Given the description of an element on the screen output the (x, y) to click on. 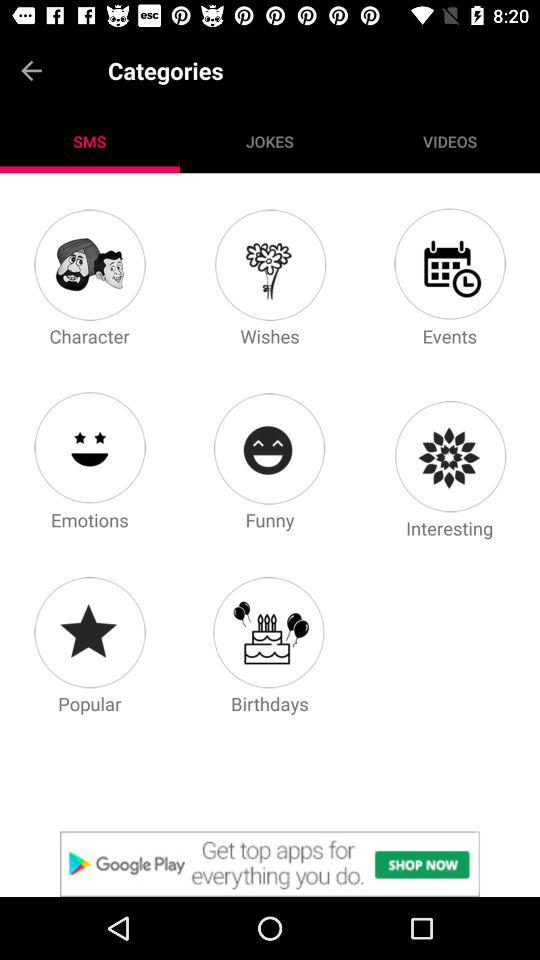
go to interesting section (449, 456)
